Given the description of an element on the screen output the (x, y) to click on. 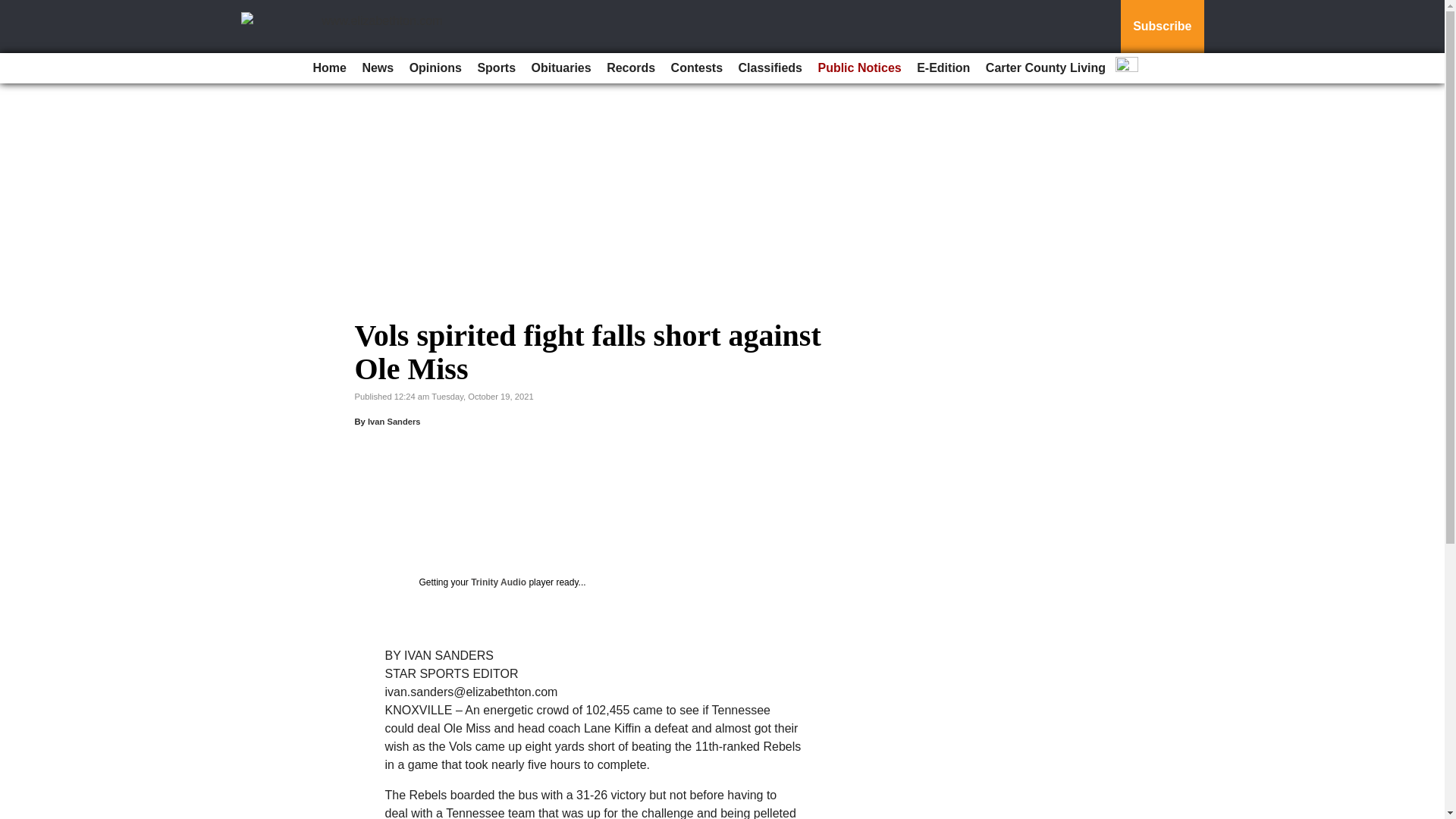
E-Edition (943, 68)
Carter County Living (1045, 68)
Go (13, 9)
Trinity Audio (497, 582)
Classifieds (770, 68)
Ivan Sanders (394, 420)
Records (630, 68)
News (376, 68)
Home (328, 68)
Subscribe (1162, 26)
